Given the description of an element on the screen output the (x, y) to click on. 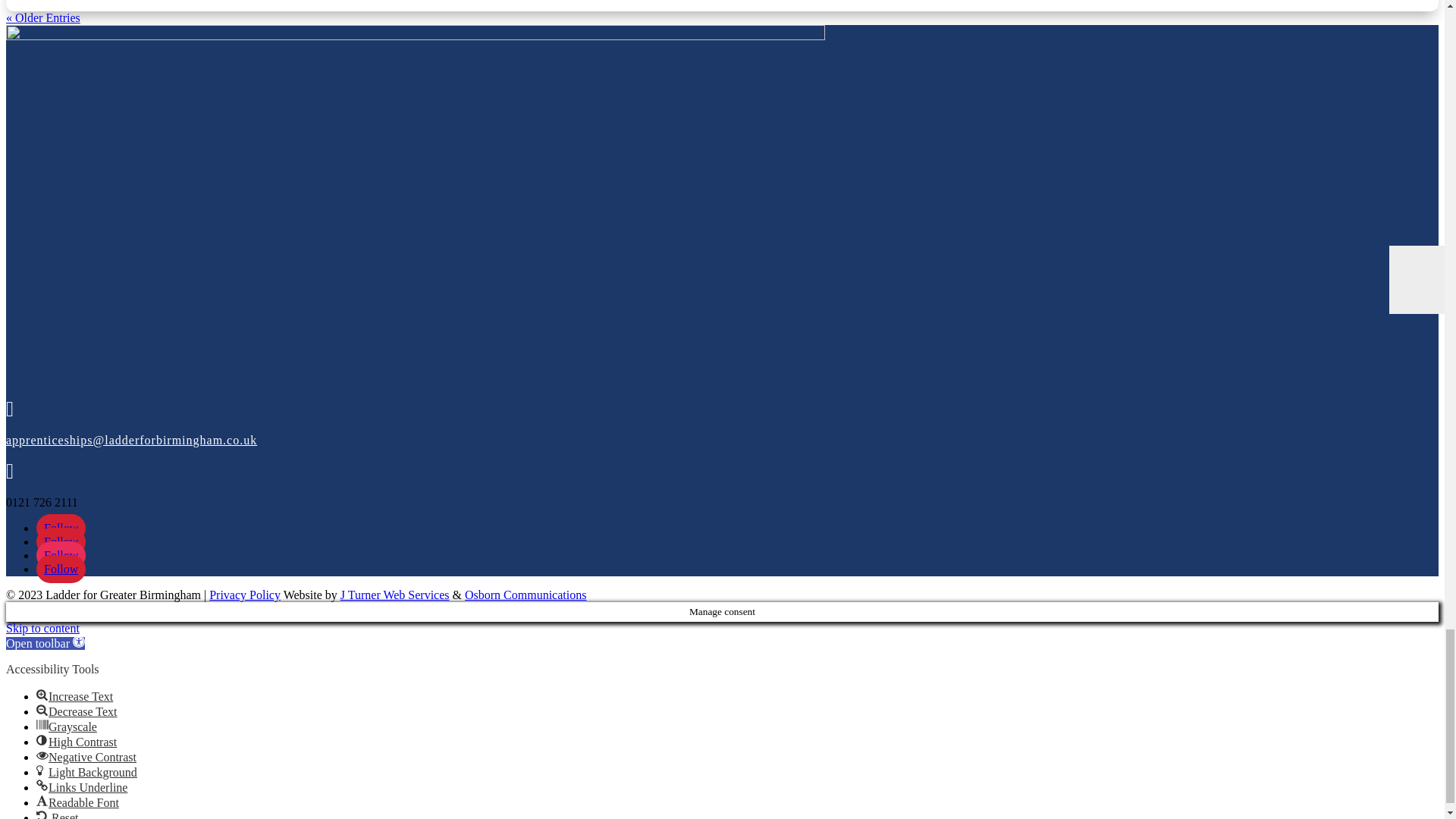
Accessibility Tools (44, 643)
Follow on Instagram (60, 555)
Follow on LinkedIn (60, 569)
Follow on Facebook (60, 528)
Follow on Twitter (60, 541)
